Given the description of an element on the screen output the (x, y) to click on. 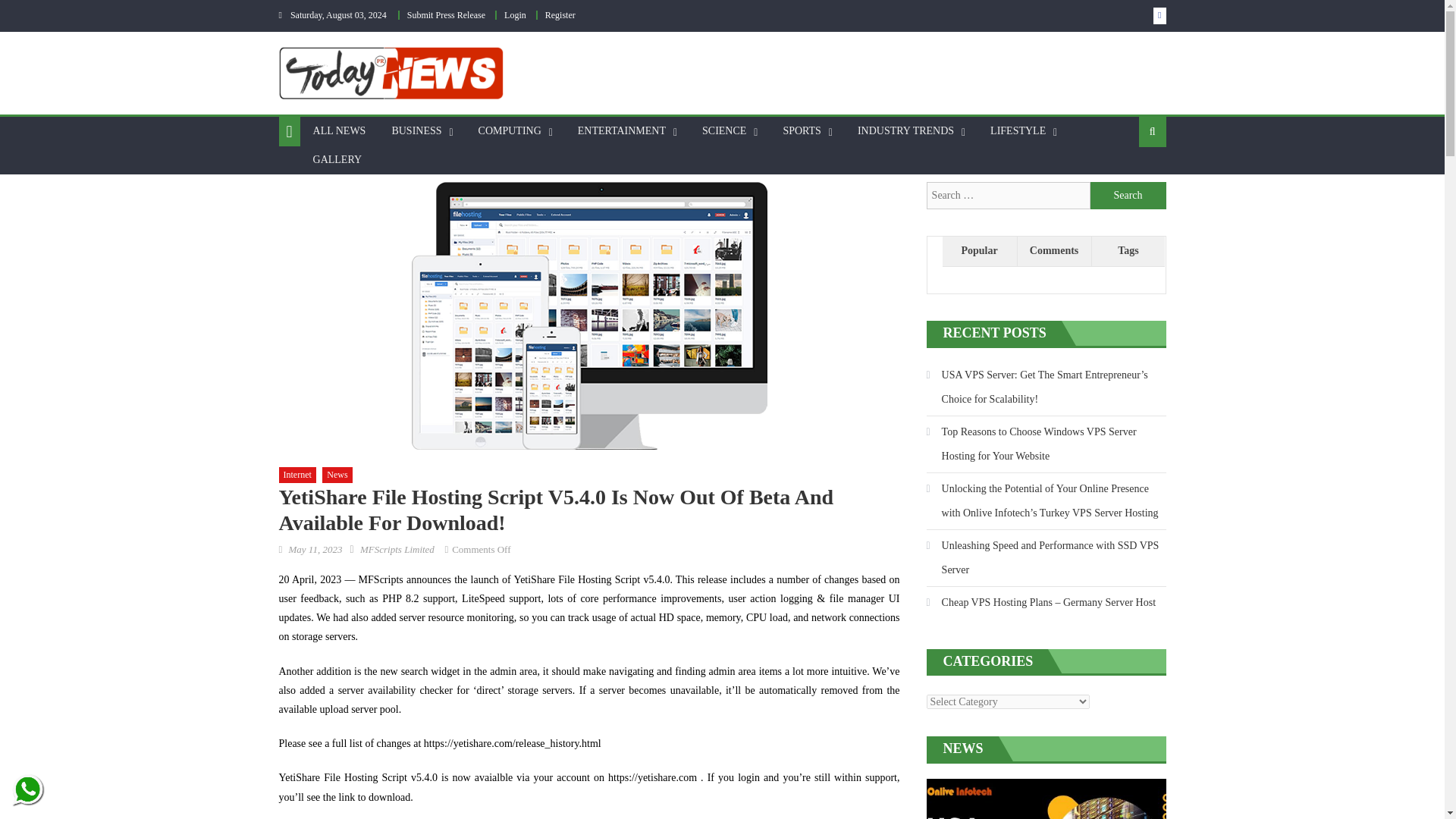
ENTERTAINMENT (621, 131)
Search (1128, 195)
Register (559, 14)
SPORTS (801, 131)
SCIENCE (723, 131)
Submit Press Release (445, 14)
ALL NEWS (339, 131)
BUSINESS (416, 131)
Login (514, 14)
INDUSTRY TRENDS (905, 131)
